Given the description of an element on the screen output the (x, y) to click on. 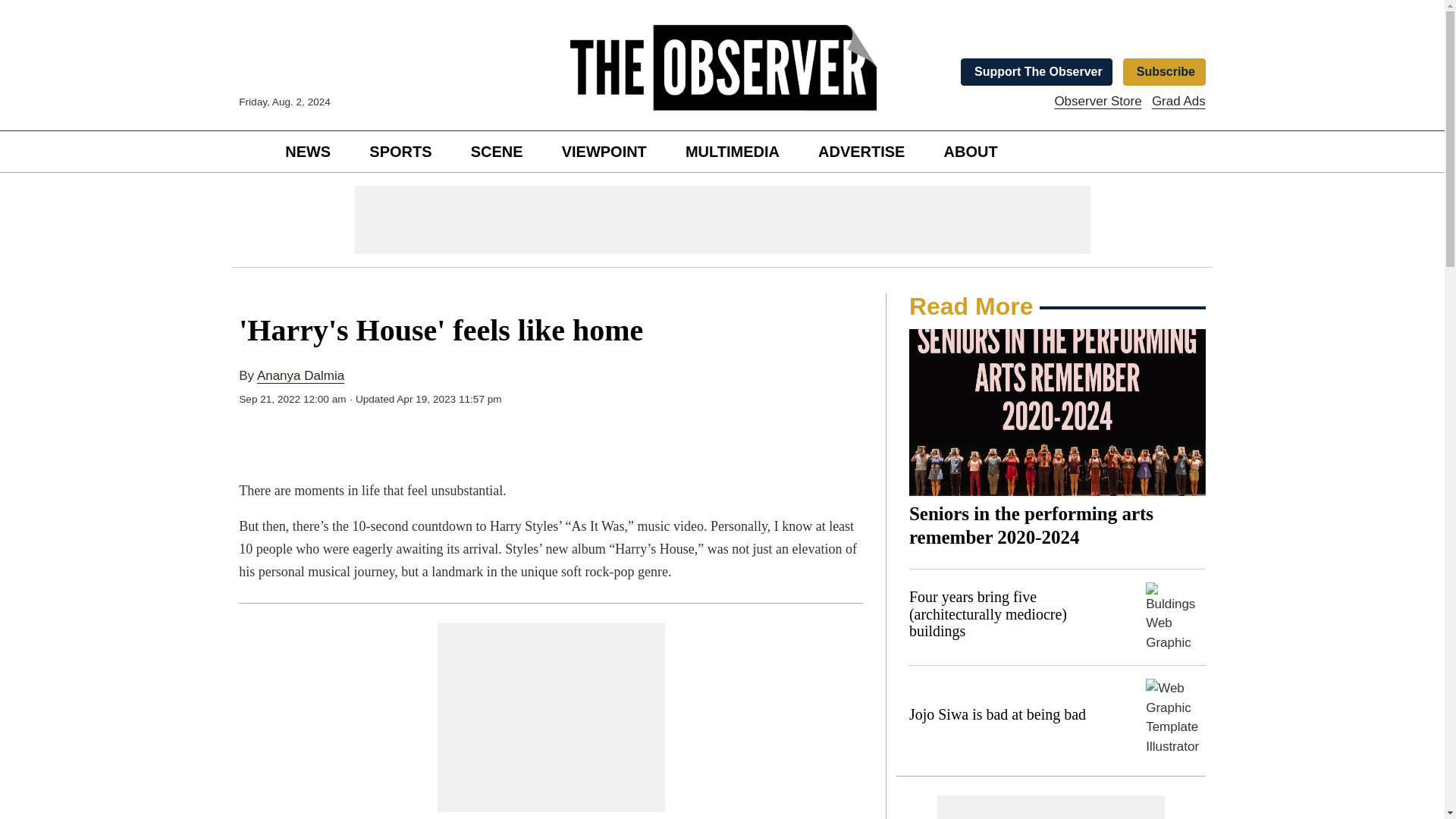
Subscribe (1163, 71)
MULTIMEDIA (732, 152)
Multimedia (732, 152)
Support The Observer (1036, 71)
Advertise (861, 152)
NEWS (308, 152)
Observer Store (1097, 101)
VIEWPOINT (603, 152)
ABOUT (970, 152)
News (308, 152)
Viewpoint (603, 152)
ADVERTISE (861, 152)
SCENE (496, 152)
Scene (496, 152)
About (970, 152)
